Given the description of an element on the screen output the (x, y) to click on. 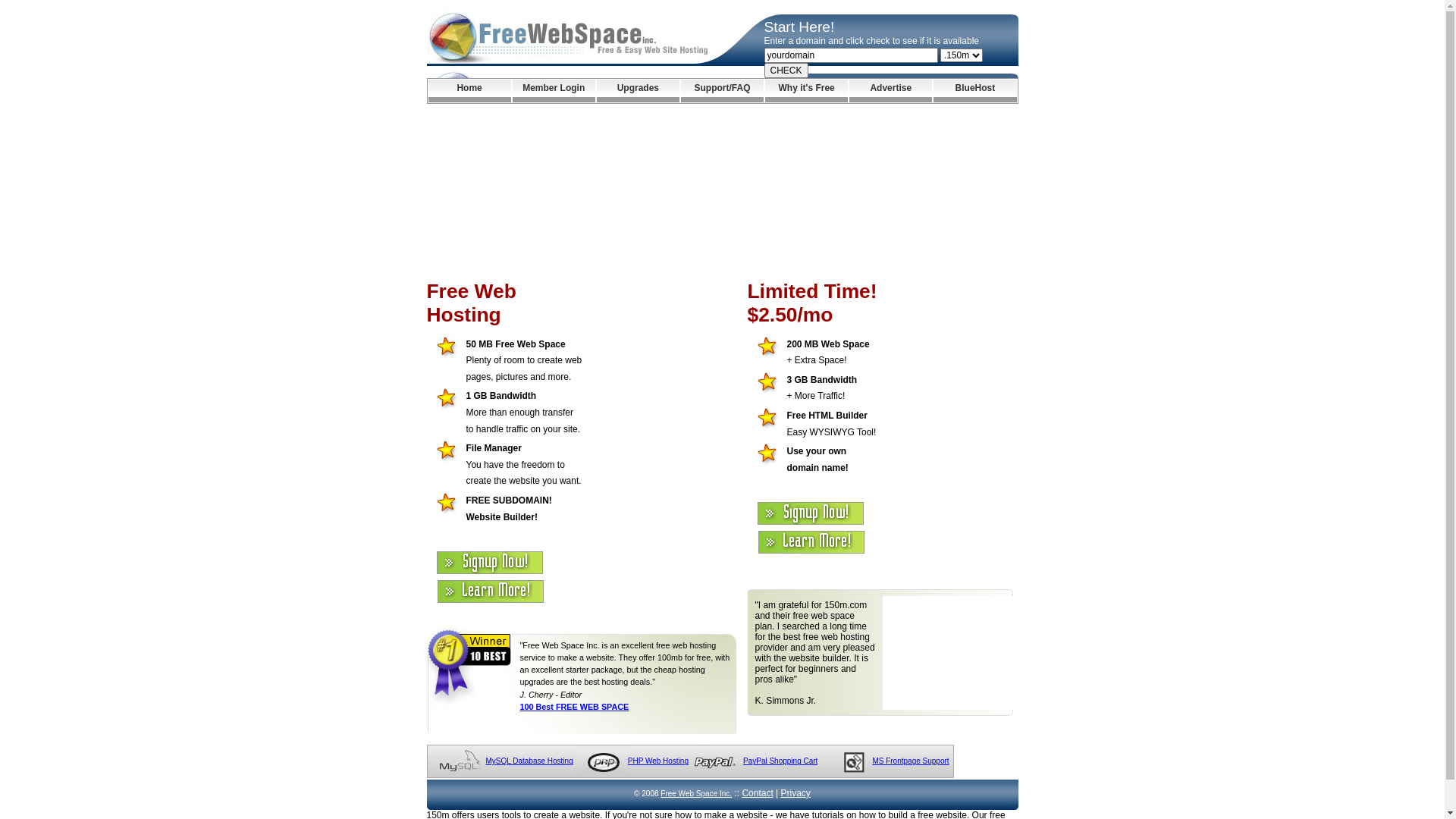
Member Login Element type: text (553, 90)
100 Best FREE WEB SPACE Element type: text (574, 706)
Free Web Space Inc. Element type: text (695, 793)
Privacy Element type: text (795, 792)
Home Element type: text (468, 90)
CHECK Element type: text (786, 70)
Support/FAQ Element type: text (721, 90)
Upgrades Element type: text (637, 90)
Why it's Free Element type: text (806, 90)
MySQL Database Hosting Element type: text (528, 760)
PayPal Shopping Cart Element type: text (780, 760)
BlueHost Element type: text (974, 90)
MS Frontpage Support Element type: text (910, 760)
Contact Element type: text (756, 792)
PHP Web Hosting Element type: text (657, 760)
Advertise Element type: text (890, 90)
